Given the description of an element on the screen output the (x, y) to click on. 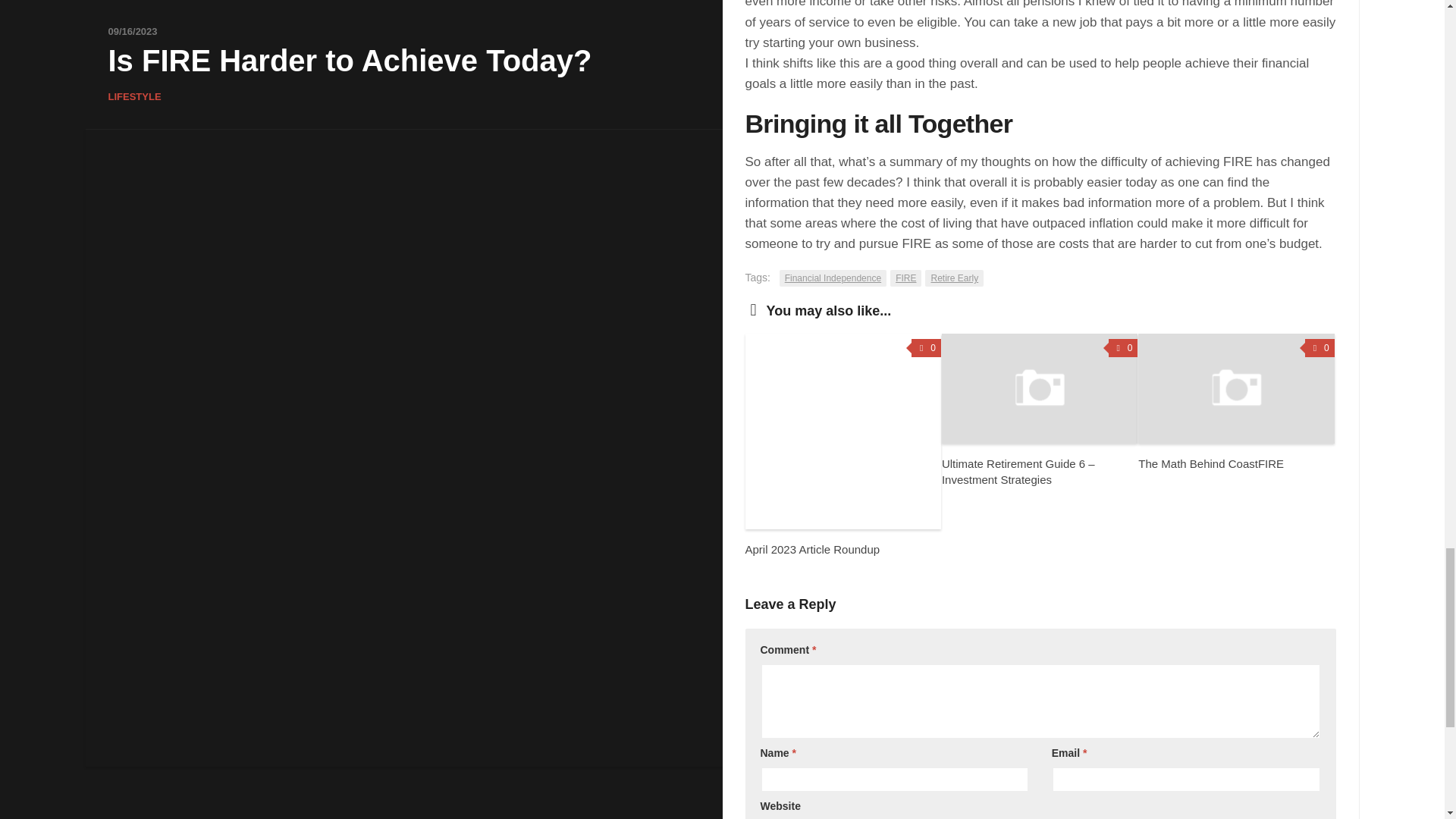
0 (1319, 348)
0 (1123, 348)
FIRE (905, 278)
Retire Early (954, 278)
The Math Behind CoastFIRE (1211, 463)
April 2023 Article Roundup (811, 549)
Financial Independence (832, 278)
0 (925, 348)
